Given the description of an element on the screen output the (x, y) to click on. 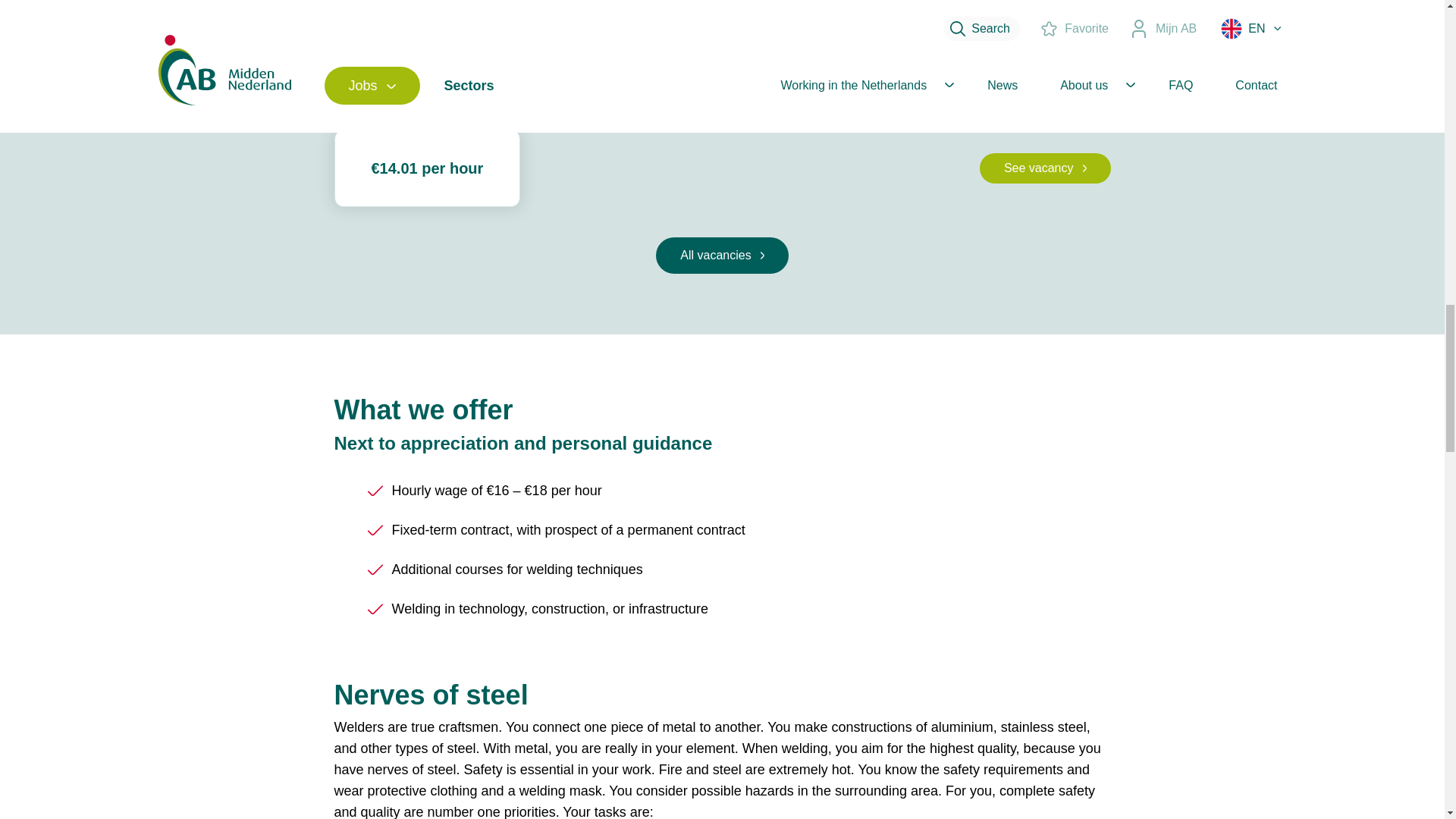
See vacancy (1044, 168)
All vacancies (721, 63)
